Given the description of an element on the screen output the (x, y) to click on. 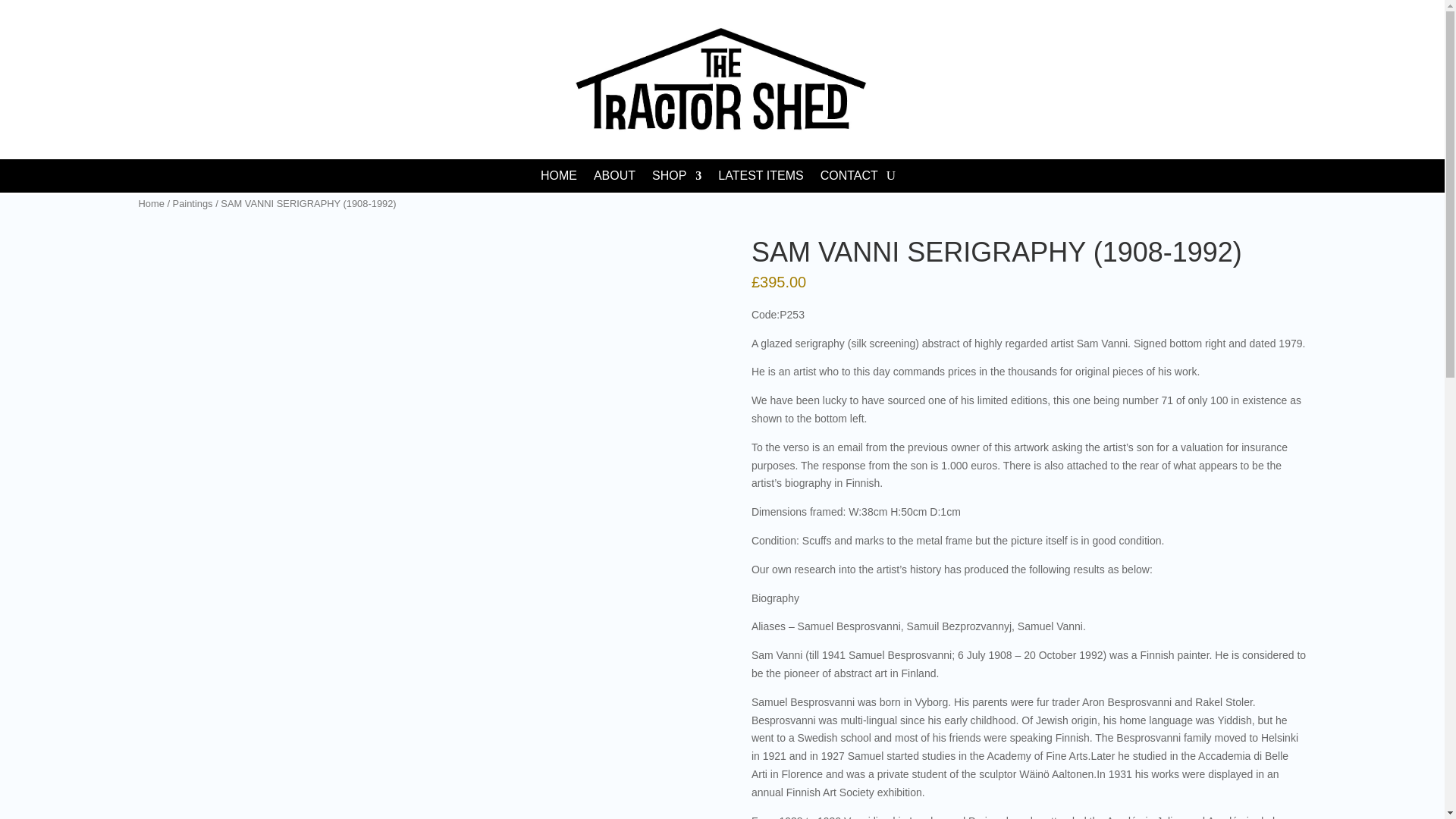
Paintings (192, 203)
HOME (558, 178)
CONTACT (849, 178)
Home (150, 203)
LATEST ITEMS (760, 178)
ABOUT (614, 178)
SHOP (676, 178)
